Given the description of an element on the screen output the (x, y) to click on. 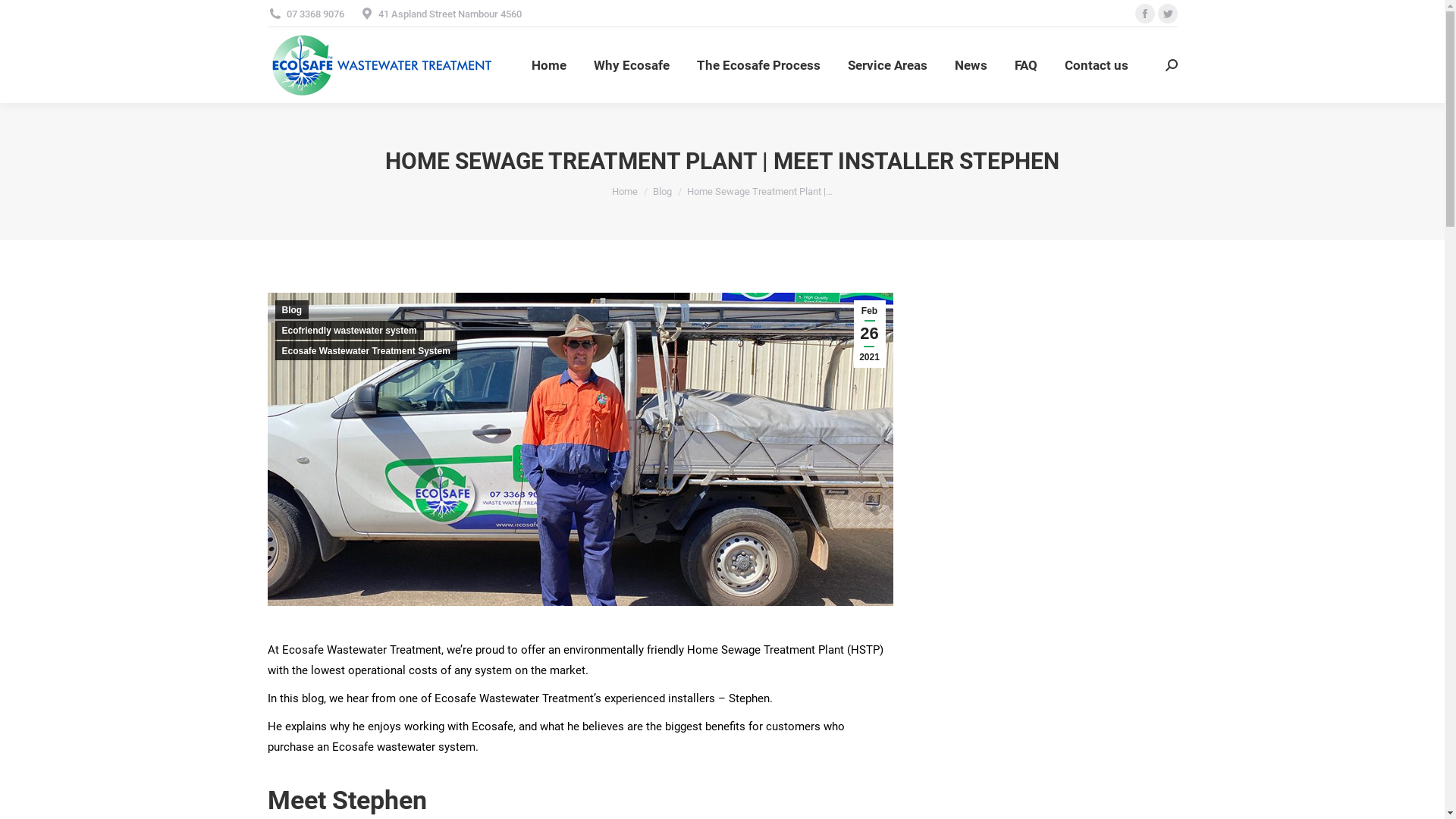
Ecosafe Wastewater Treatment System Element type: text (365, 350)
Feb
26
2021 Element type: text (869, 333)
Service Areas Element type: text (887, 64)
Go! Element type: text (23, 16)
Blog Element type: text (661, 191)
Home Element type: text (548, 64)
News Element type: text (970, 64)
Home Element type: text (624, 191)
Stephen-Ottrey.psd Element type: hover (579, 448)
The Ecosafe Process Element type: text (758, 64)
Facebook page opens in new window Element type: text (1144, 13)
Why Ecosafe Element type: text (631, 64)
Contact us Element type: text (1096, 64)
Blog Element type: text (291, 309)
07 3368 9076 Element type: text (304, 13)
FAQ Element type: text (1025, 64)
Twitter page opens in new window Element type: text (1166, 13)
Ecofriendly wastewater system Element type: text (348, 329)
